Given the description of an element on the screen output the (x, y) to click on. 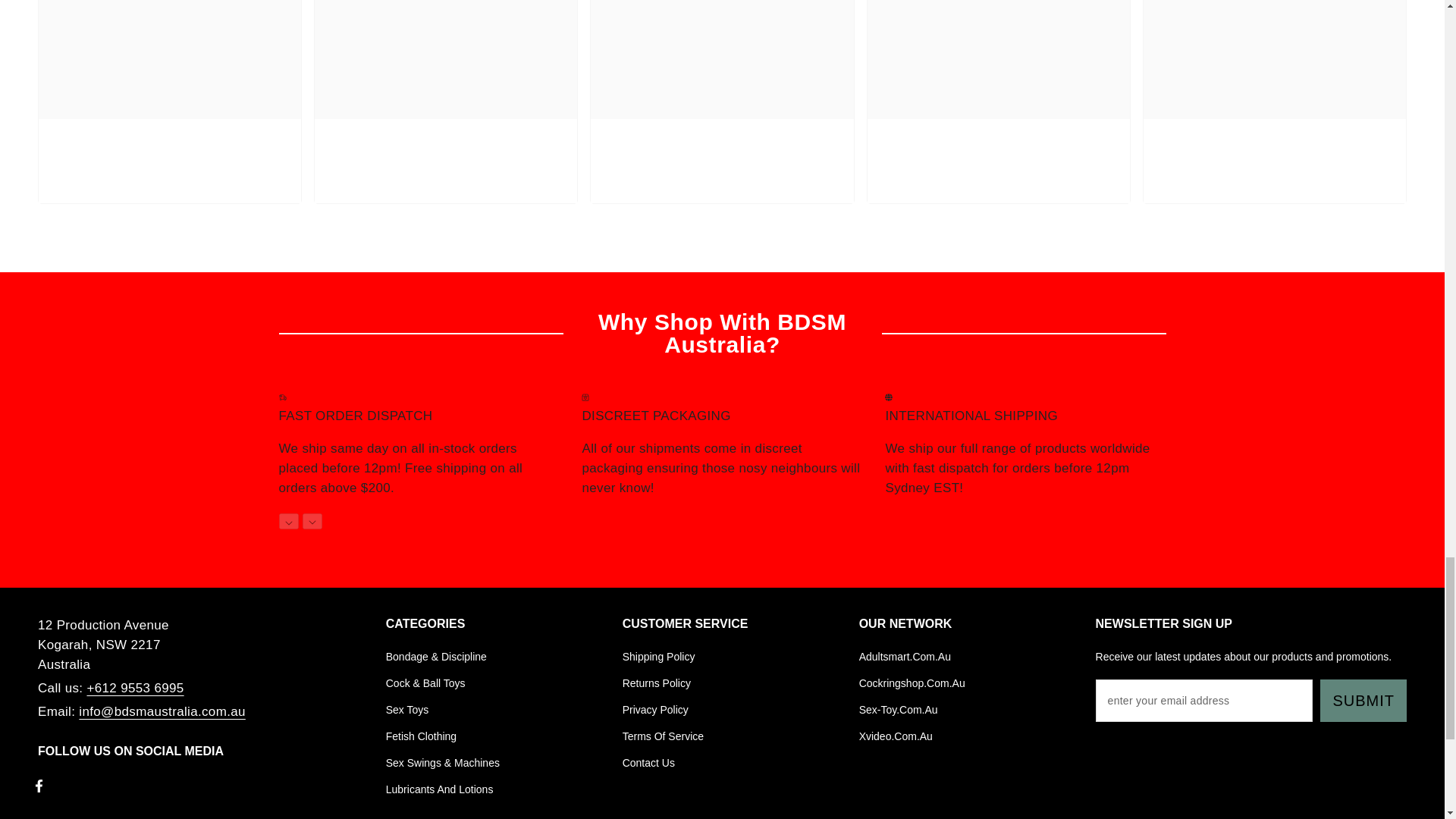
INTERNATIONAL SHIPPING (1025, 441)
DISCREET PACKAGING (720, 441)
FAST ORDER DISPATCH (419, 441)
